Given the description of an element on the screen output the (x, y) to click on. 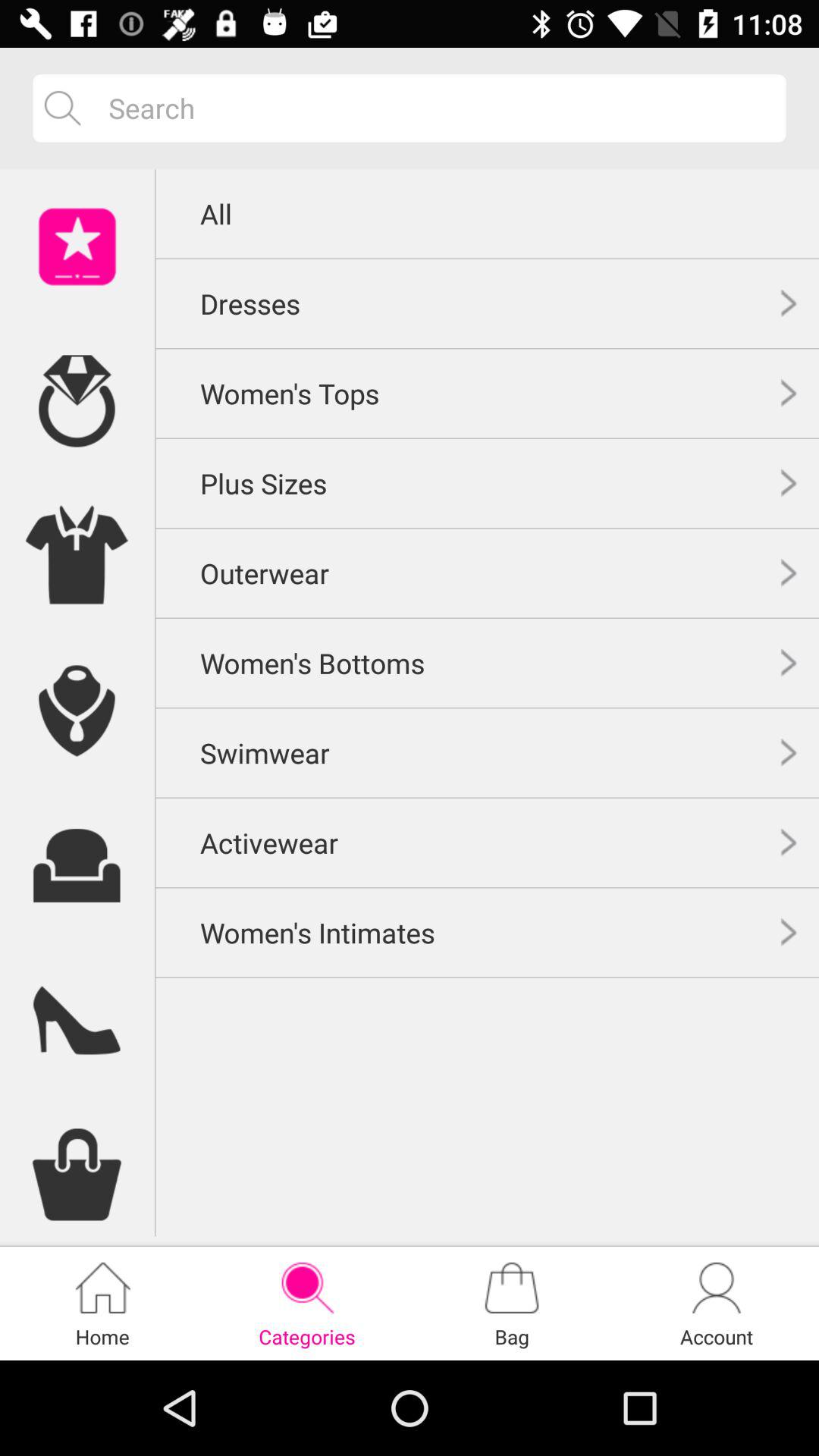
search (435, 108)
